Given the description of an element on the screen output the (x, y) to click on. 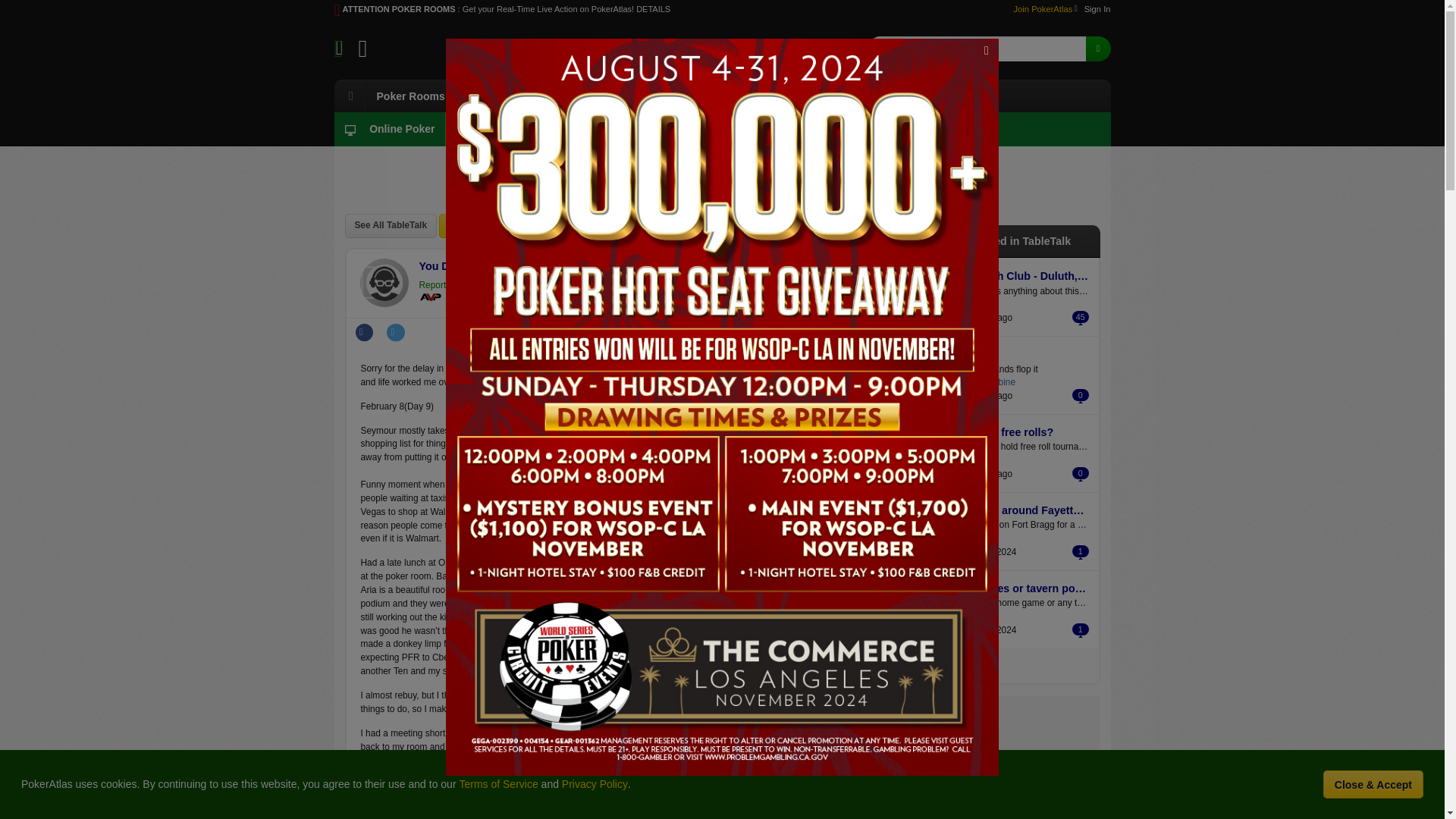
New Jersey (544, 128)
Join PokerAtlas (1045, 9)
Reviews (772, 96)
: Get your Real-Time Live Action on PokerAtlas! DETAILS (564, 8)
PokerAtlas.com (421, 48)
Nevada (476, 128)
Current Location (539, 55)
Online Poker (388, 128)
Poker Rooms (409, 96)
TableTalk (849, 96)
